Given the description of an element on the screen output the (x, y) to click on. 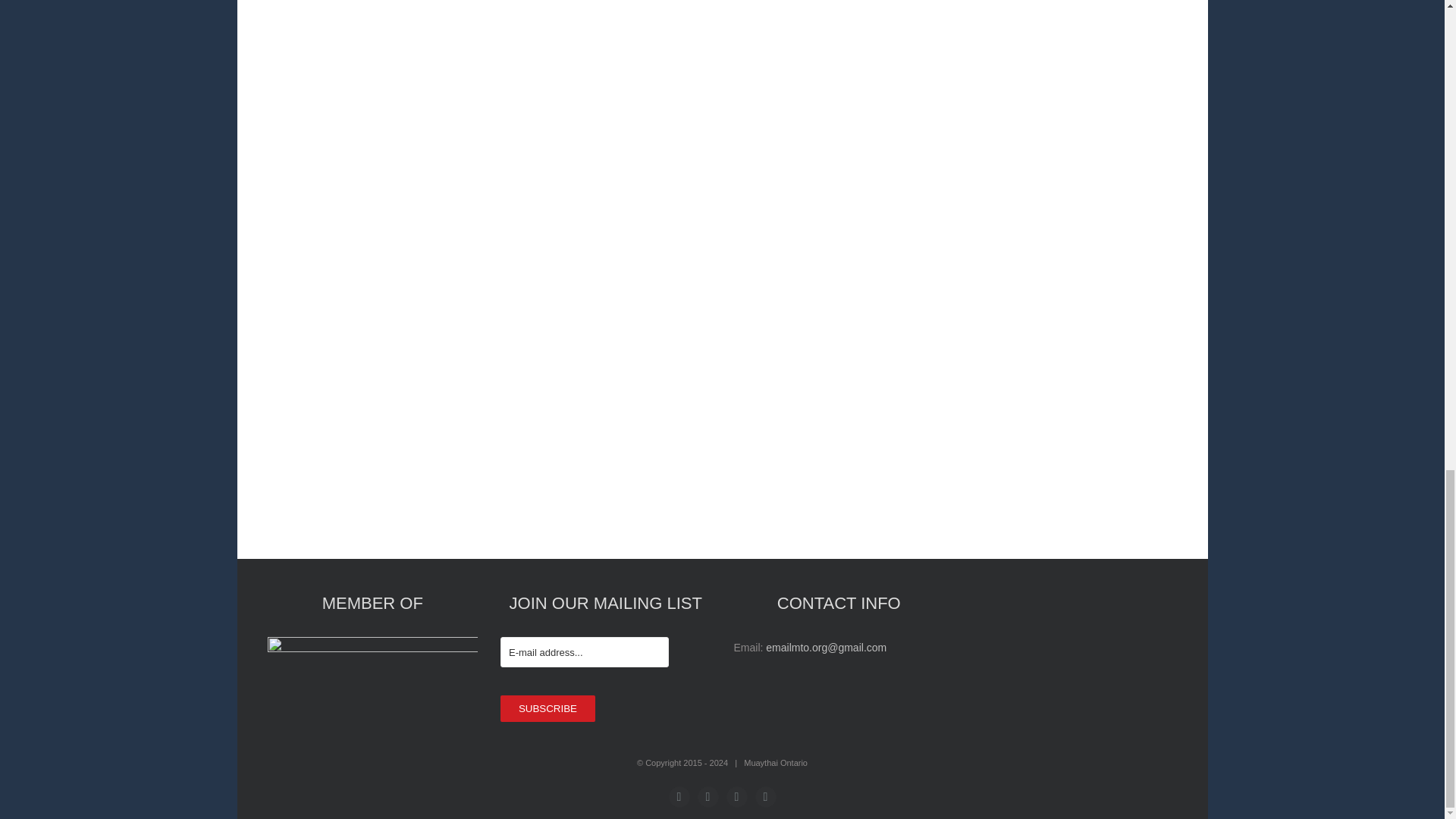
Facebook (679, 796)
SUBSCRIBE (547, 708)
